Given the description of an element on the screen output the (x, y) to click on. 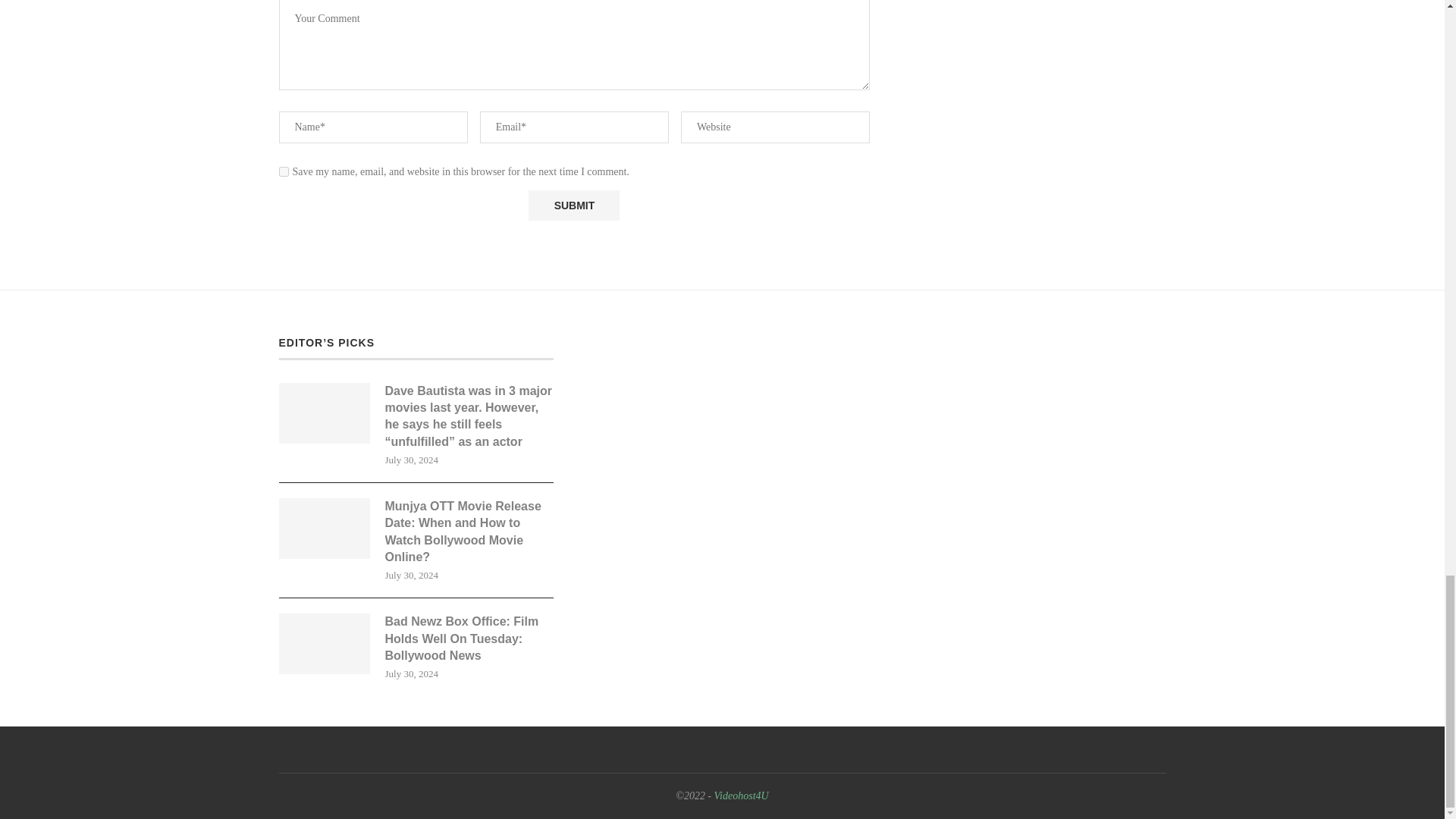
Submit (574, 205)
yes (283, 171)
